Given the description of an element on the screen output the (x, y) to click on. 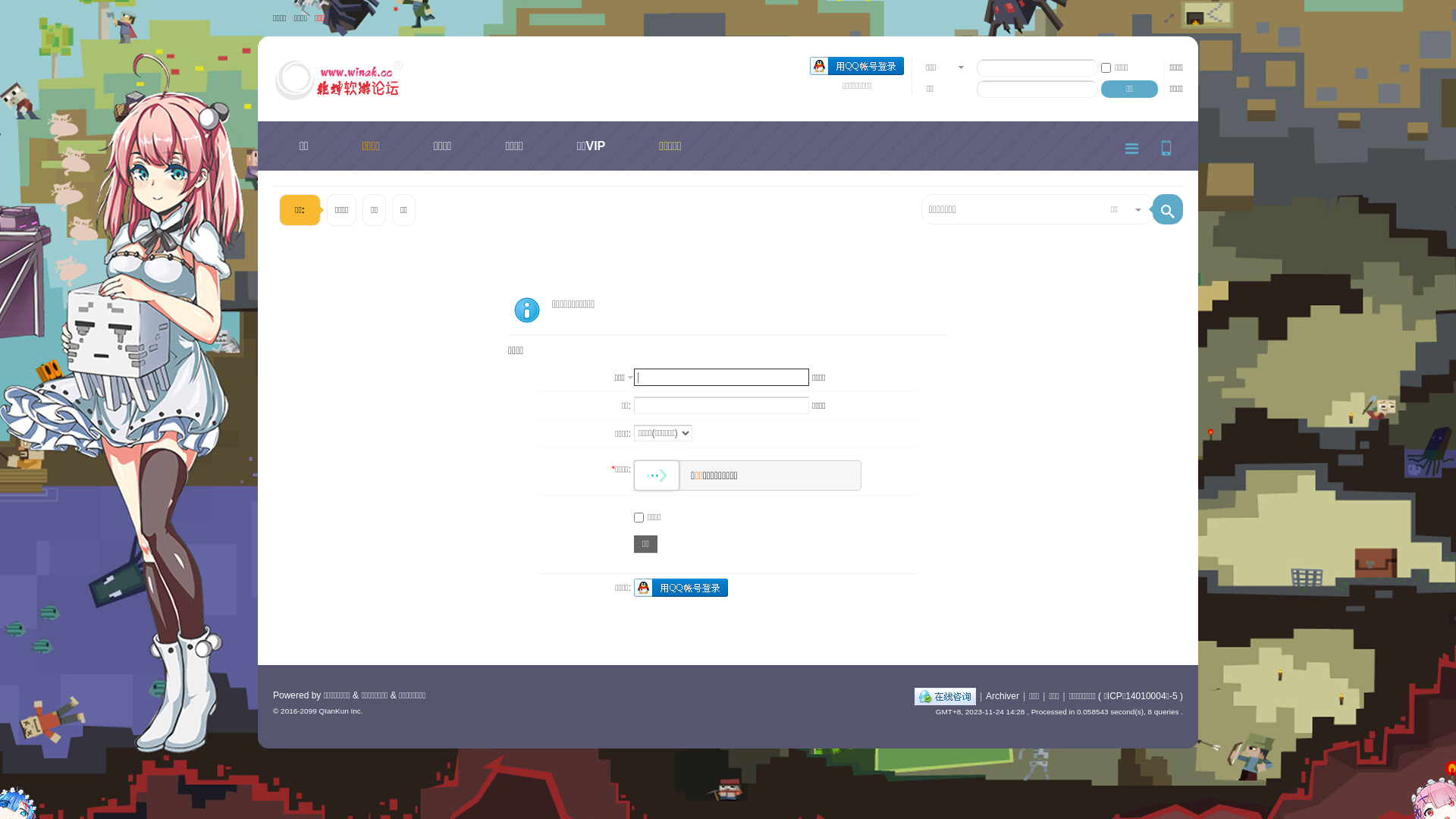
QQ Element type: hover (944, 695)
Archiver Element type: text (1002, 695)
true Element type: text (1167, 209)
QIanKun Inc. Element type: text (340, 710)
